Given the description of an element on the screen output the (x, y) to click on. 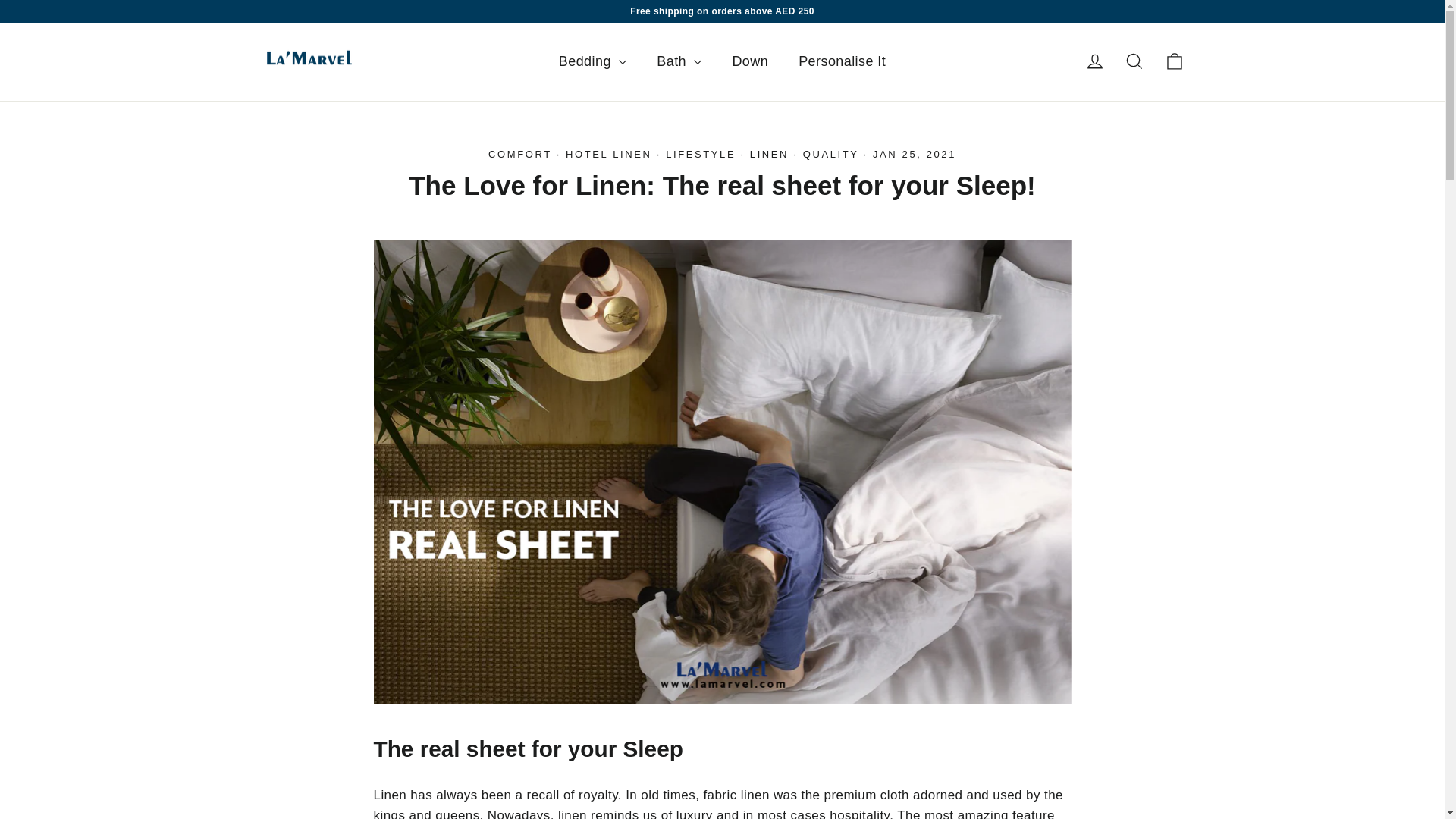
icon-bag-minimal (1174, 61)
account (1094, 61)
icon-search (1134, 61)
